Given the description of an element on the screen output the (x, y) to click on. 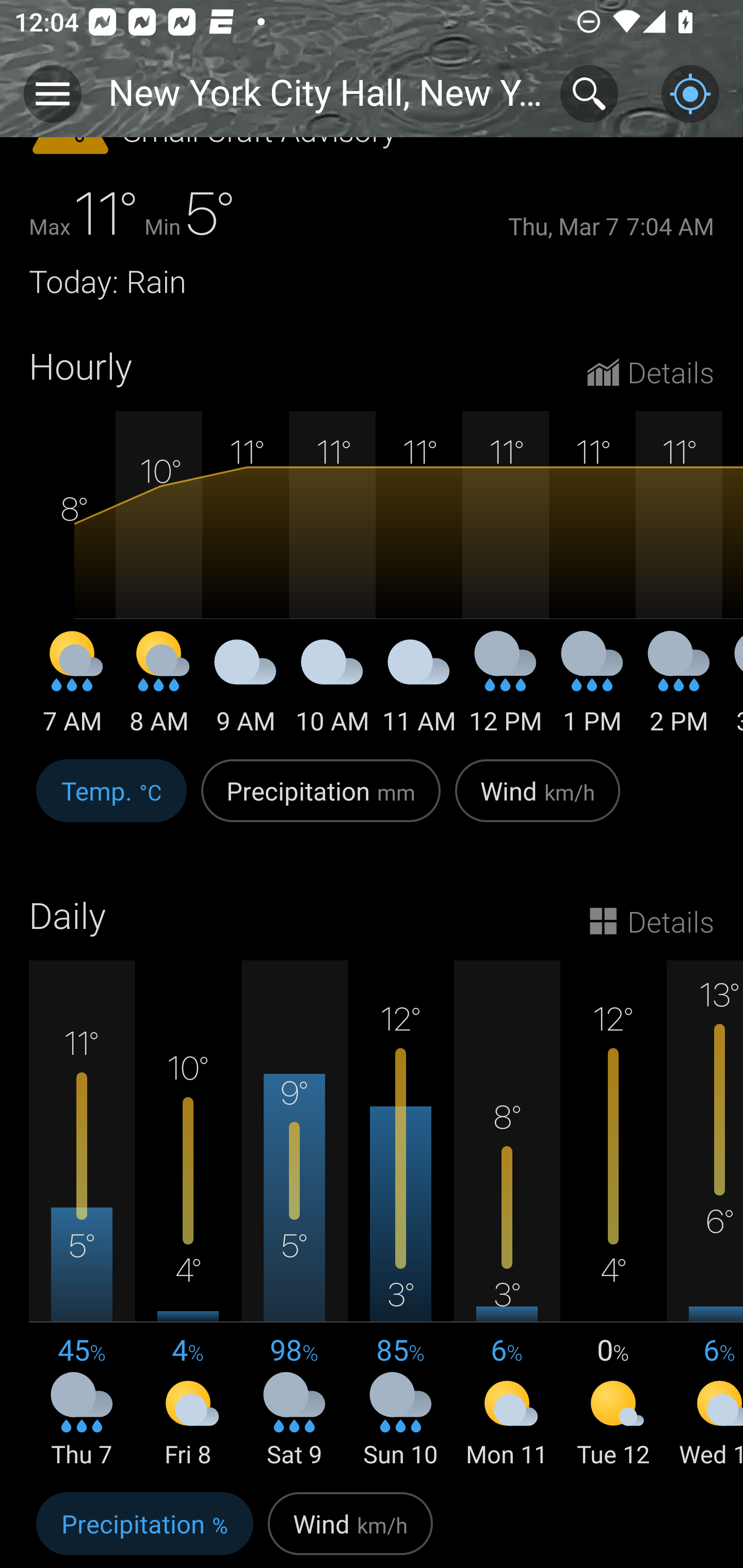
7 AM 8 AM 9 AM 10 AM 11 AM 12 PM 1 PM 2 PM 3 PM (371, 574)
7 AM (71, 689)
8 AM (158, 689)
9 AM (245, 689)
10 AM (332, 689)
11 AM (418, 689)
12 PM (505, 689)
1 PM (592, 689)
2 PM (679, 689)
Temp. °C (110, 801)
Precipitation mm (320, 801)
Wind km/h (537, 801)
11° 5° 45 % Thu 7 (81, 1214)
10° 4° 4 % Fri 8 (188, 1214)
9° 5° 98 % Sat 9 (294, 1214)
12° 3° 85 % Sun 10 (400, 1214)
8° 3° 6 % Mon 11 (506, 1214)
12° 4° 0 % Tue 12 (613, 1214)
13° 6° 6 % Wed 13 (704, 1214)
Precipitation % (144, 1526)
Wind km/h (349, 1526)
